Given the description of an element on the screen output the (x, y) to click on. 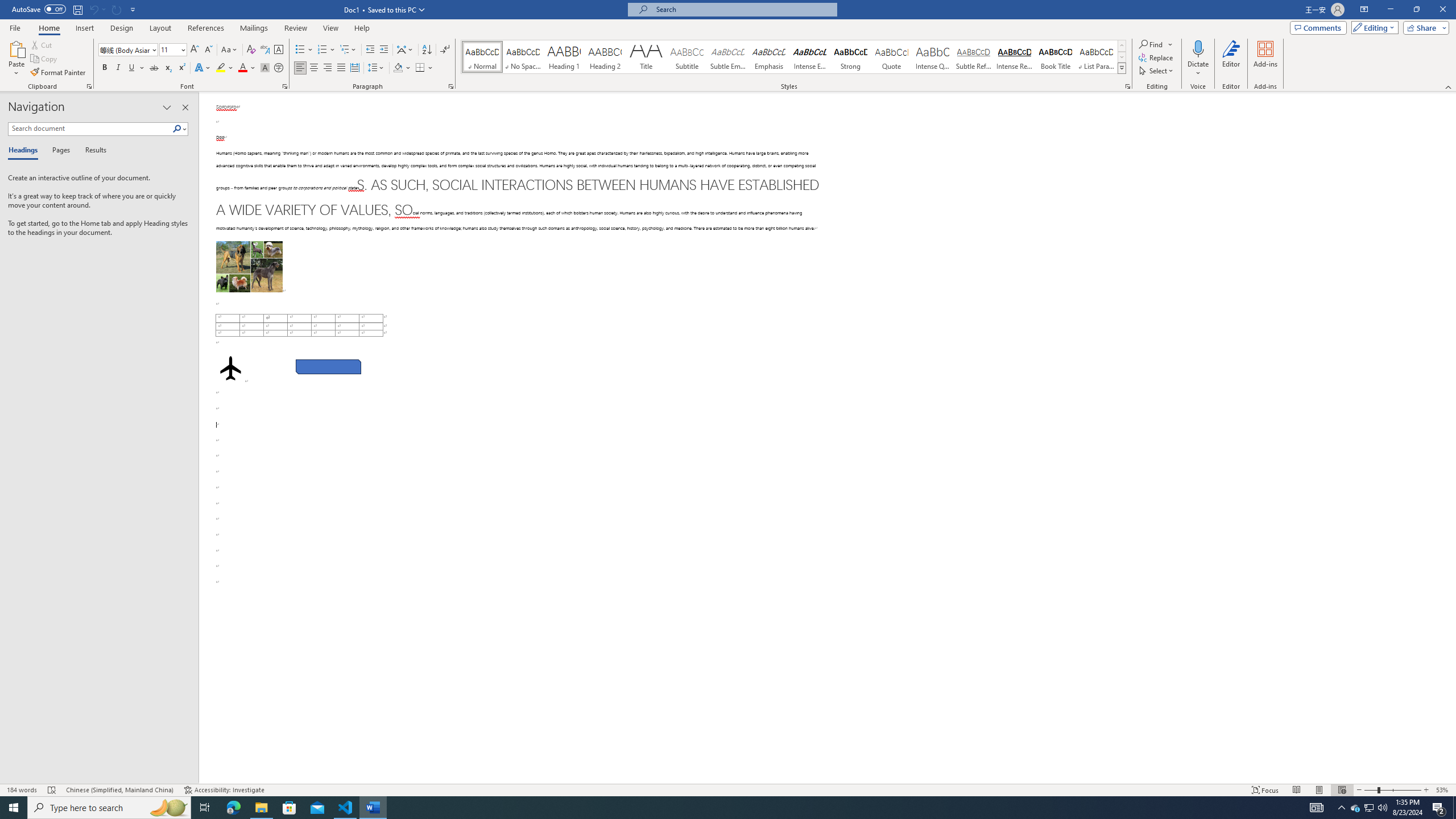
Airplane with solid fill (229, 367)
